Given the description of an element on the screen output the (x, y) to click on. 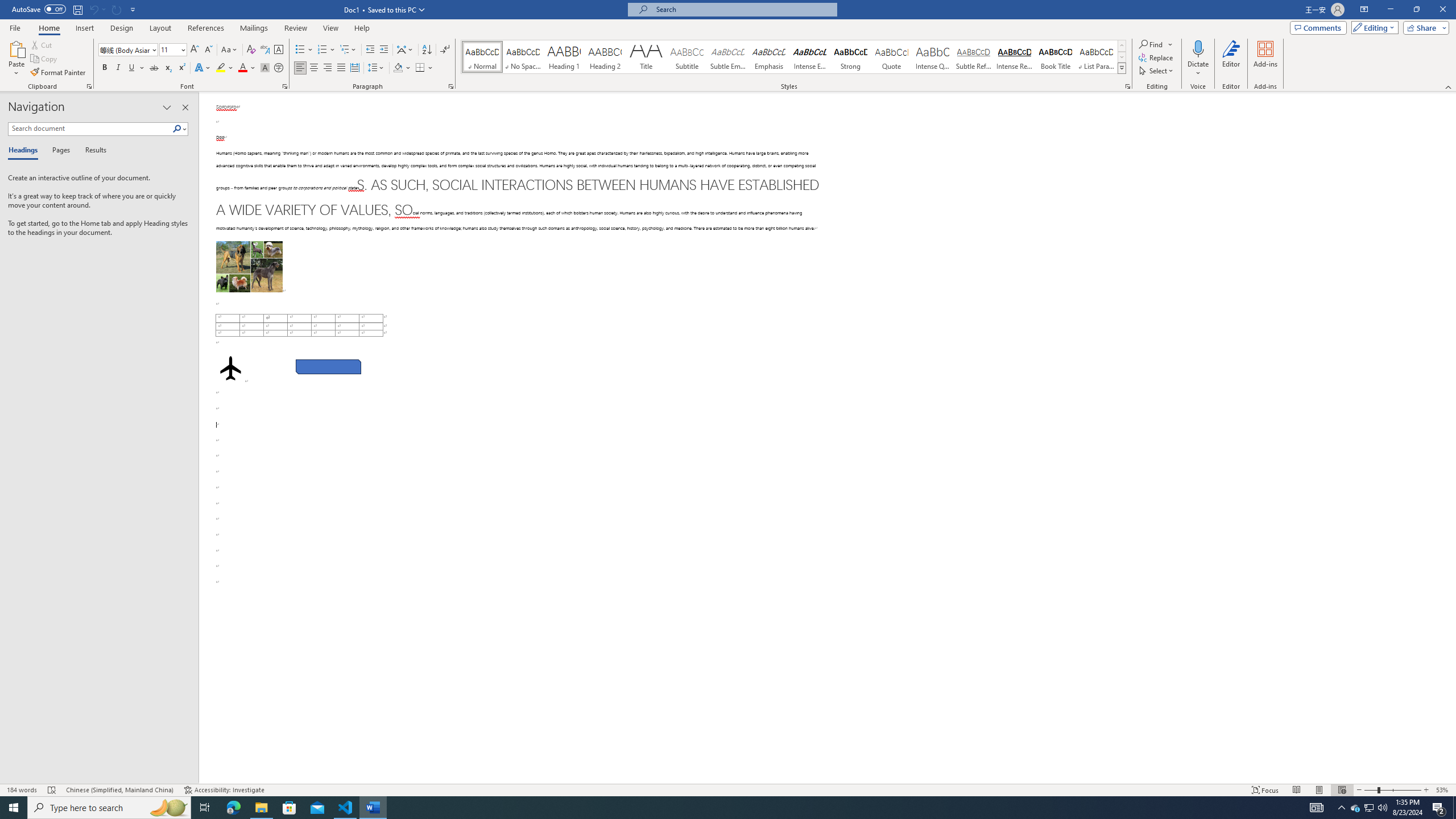
Can't Undo (96, 9)
